Given the description of an element on the screen output the (x, y) to click on. 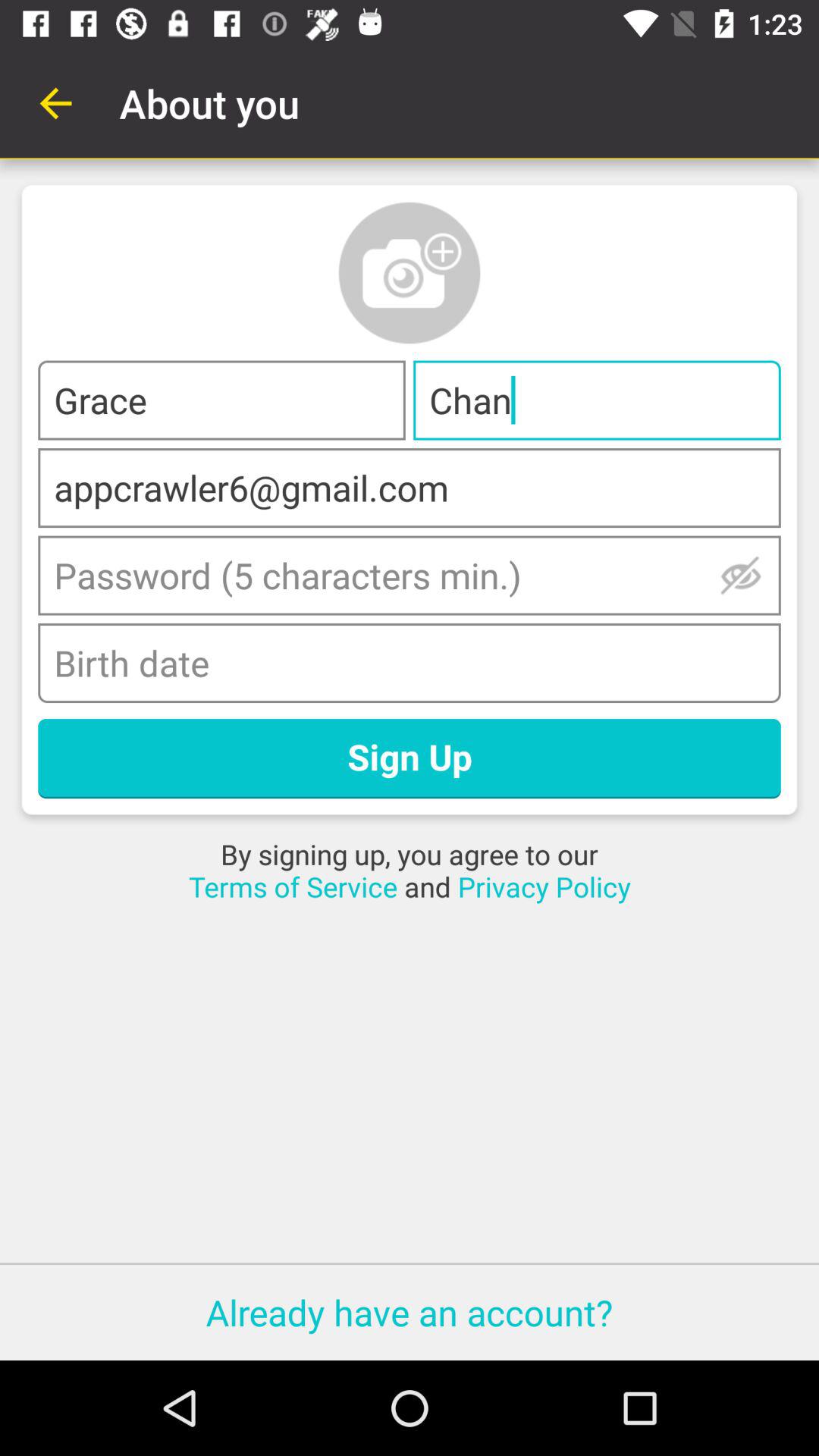
date of birth (409, 662)
